Given the description of an element on the screen output the (x, y) to click on. 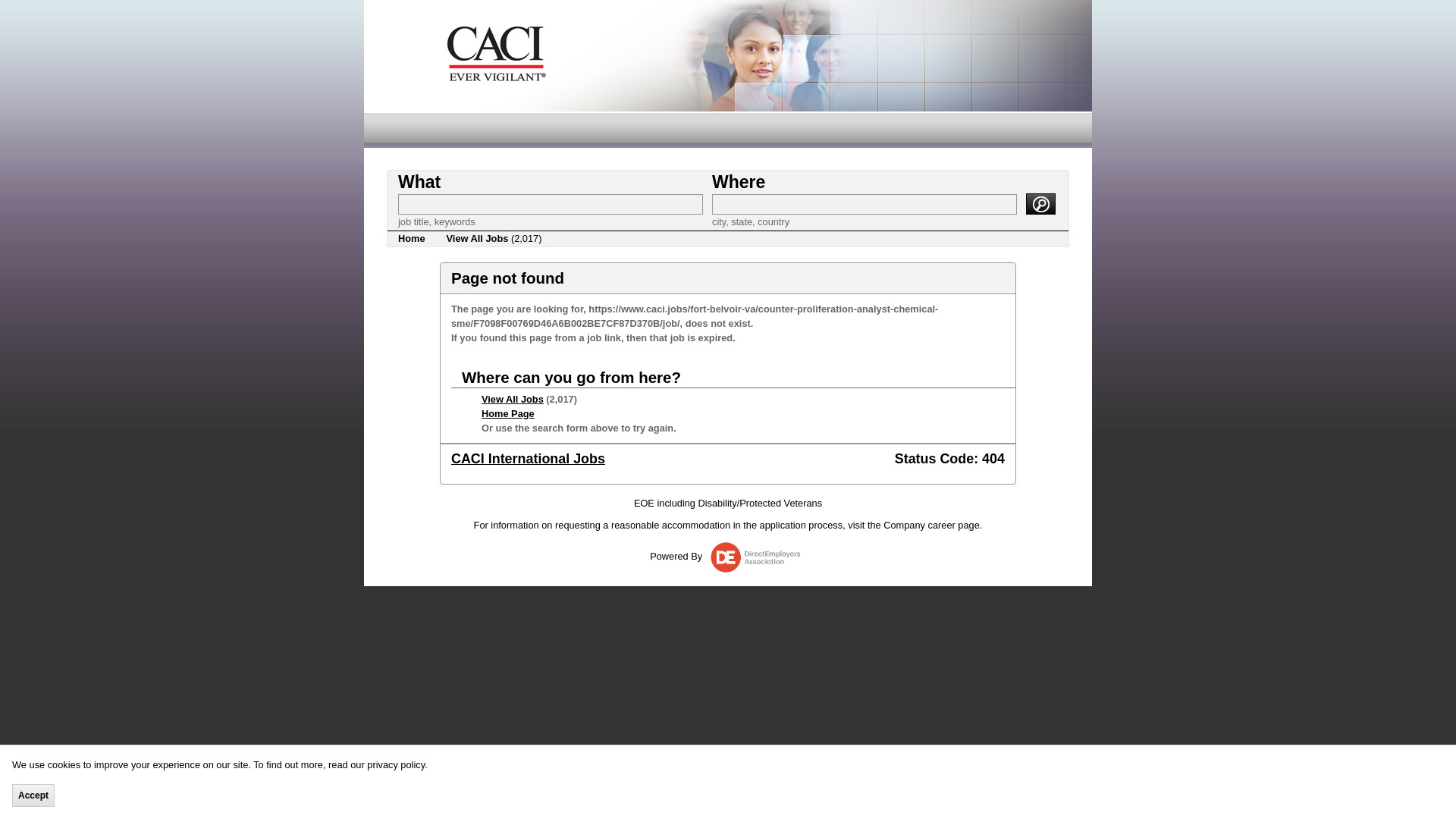
requesting a reasonable accommodation (642, 524)
Home Page (507, 413)
visit the Company career page (913, 524)
Search Phrase (550, 204)
search (1040, 203)
Search Location (863, 204)
CACI International Jobs (528, 458)
search (1040, 203)
View All Jobs (512, 398)
Submit Search (1040, 203)
